Given the description of an element on the screen output the (x, y) to click on. 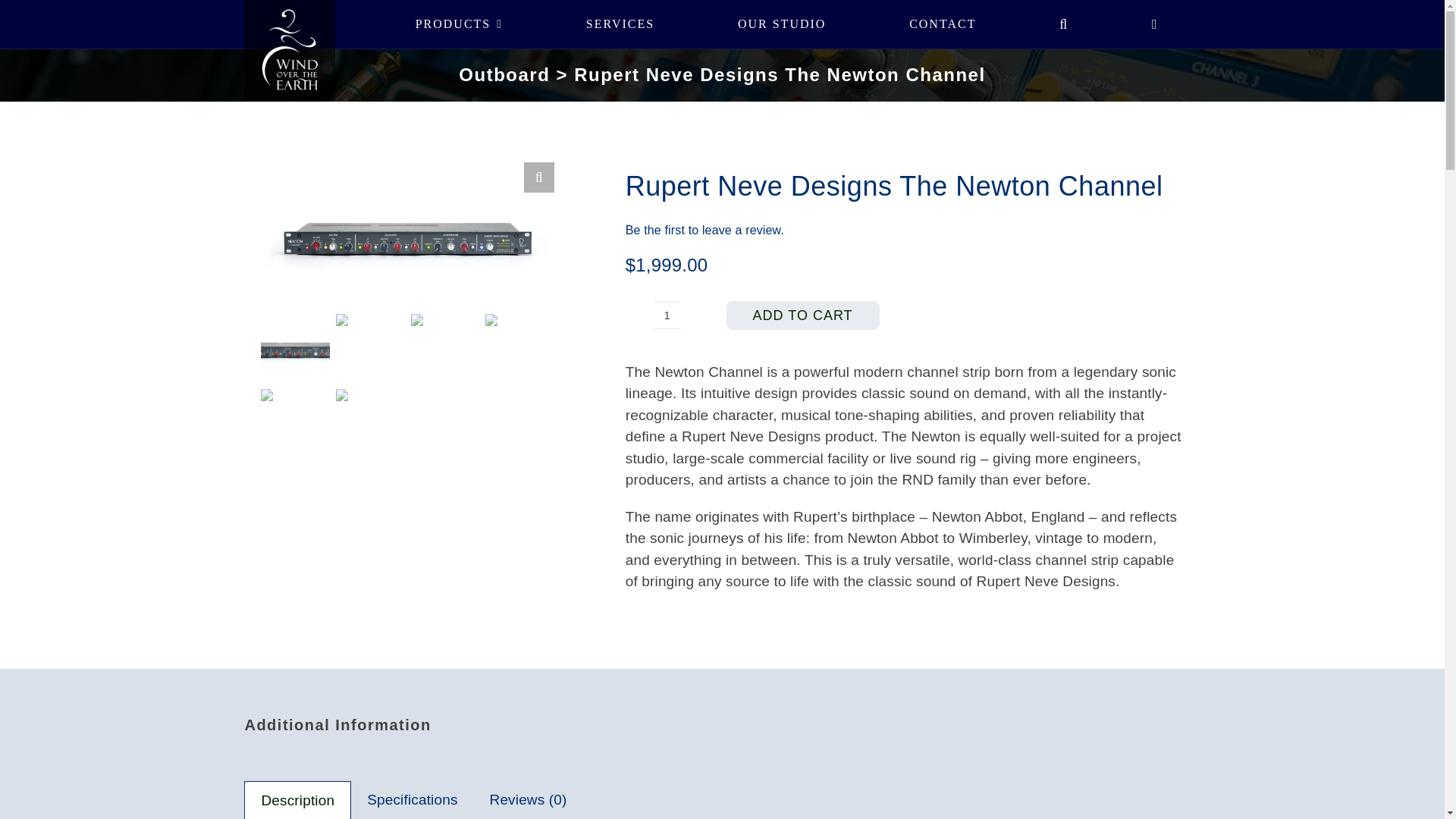
OUR STUDIO (781, 24)
PRODUCTS (458, 24)
RUP6-4 (700, 259)
SERVICES (619, 24)
CONTACT (941, 24)
RUP6-1 (406, 235)
1 (667, 315)
